Given the description of an element on the screen output the (x, y) to click on. 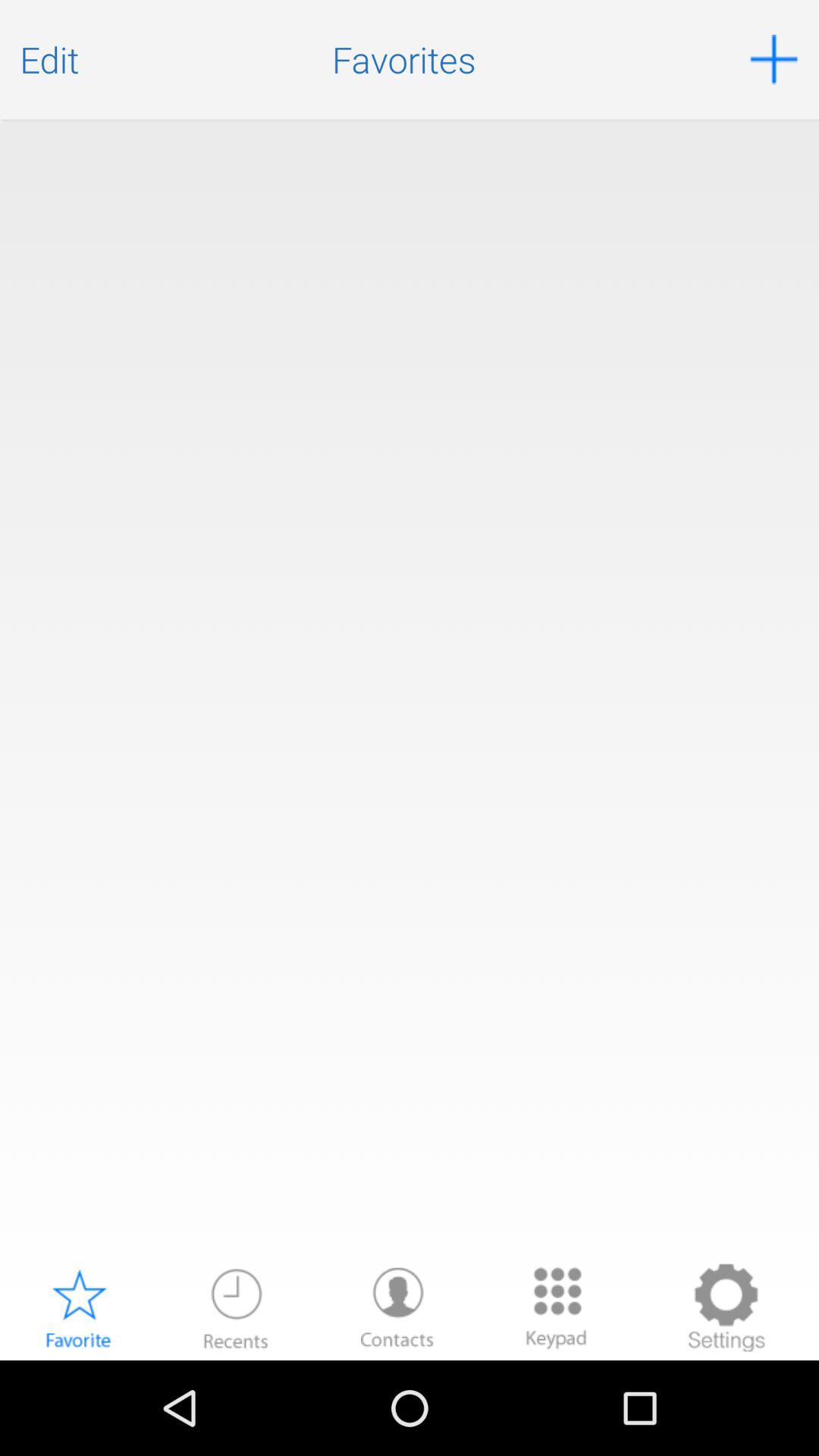
tap the edit icon (49, 59)
